Given the description of an element on the screen output the (x, y) to click on. 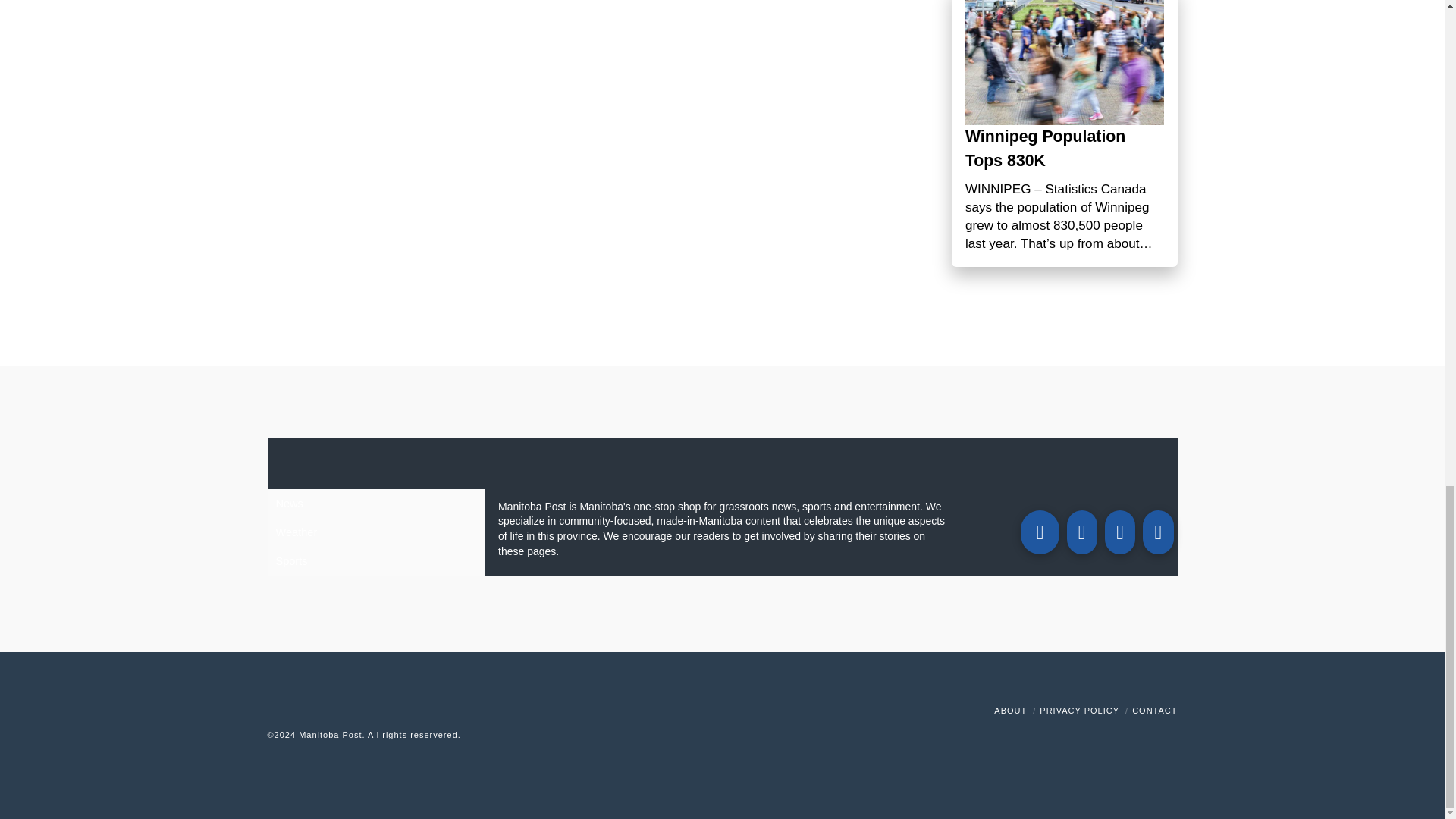
FooterWhite (497, 734)
Weather (375, 532)
Sports (375, 561)
News (375, 502)
